Given the description of an element on the screen output the (x, y) to click on. 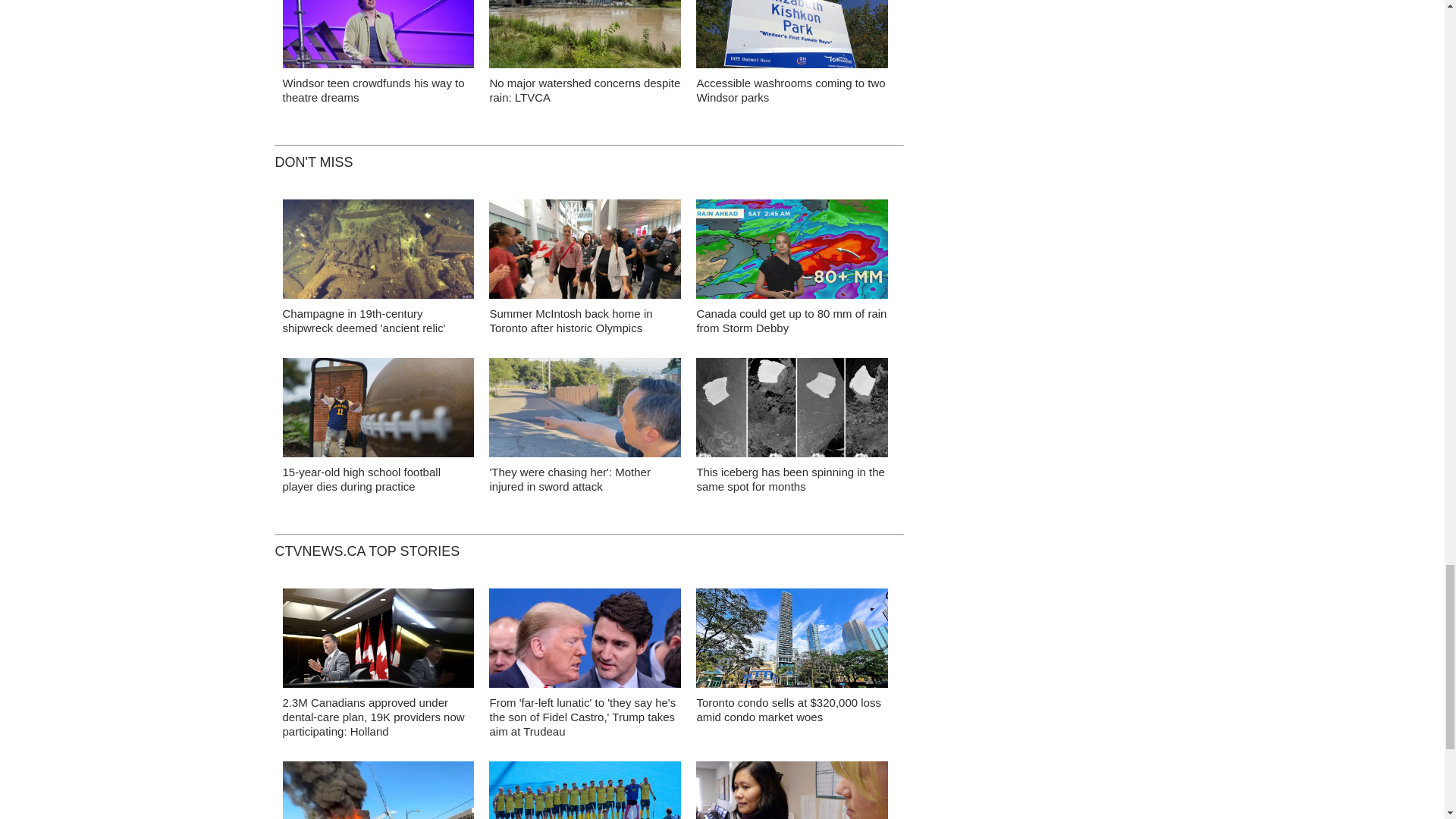
Thames River flood (585, 38)
Rowan Alice ACT (378, 38)
Windsor teen crowdfunds his way to theatre dreams (373, 90)
